Given the description of an element on the screen output the (x, y) to click on. 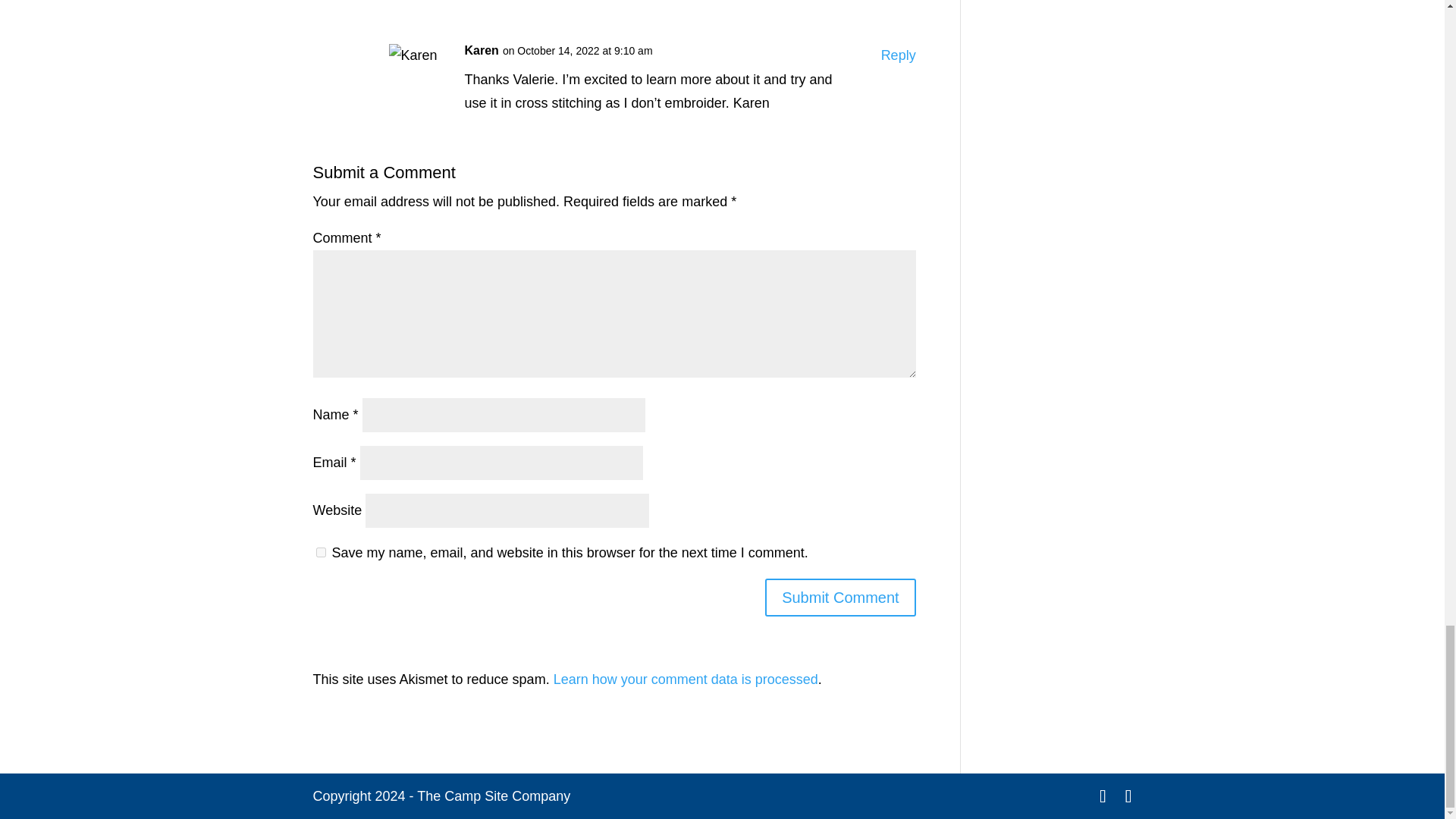
Reply (897, 55)
Karen (480, 51)
yes (319, 552)
Learn how your comment data is processed (685, 679)
Submit Comment (840, 597)
Submit Comment (840, 597)
